Given the description of an element on the screen output the (x, y) to click on. 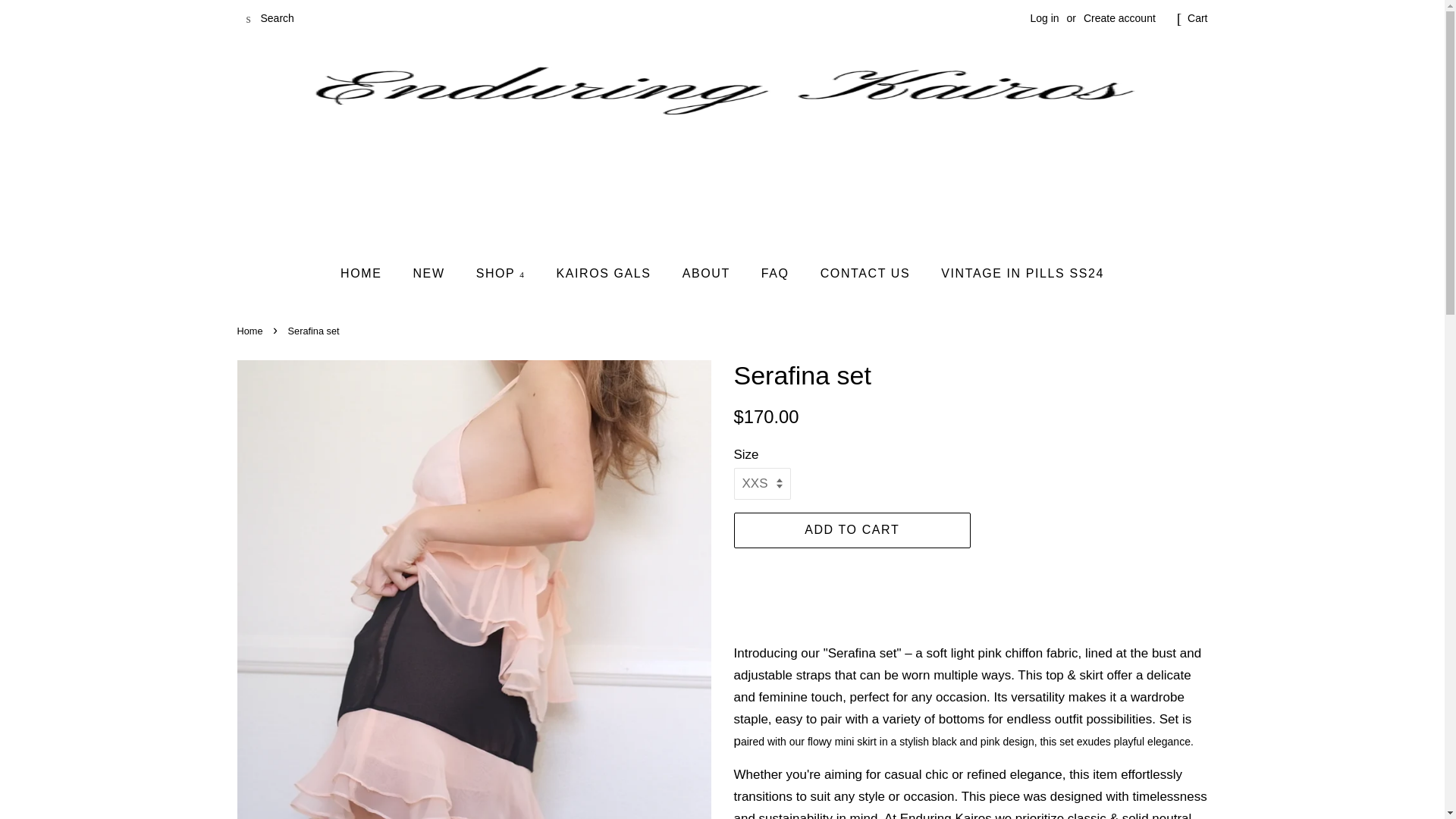
Create account (1119, 18)
HOME (368, 273)
Log in (1043, 18)
Back to the frontpage (250, 330)
Cart (1197, 18)
SEARCH (247, 18)
